Given the description of an element on the screen output the (x, y) to click on. 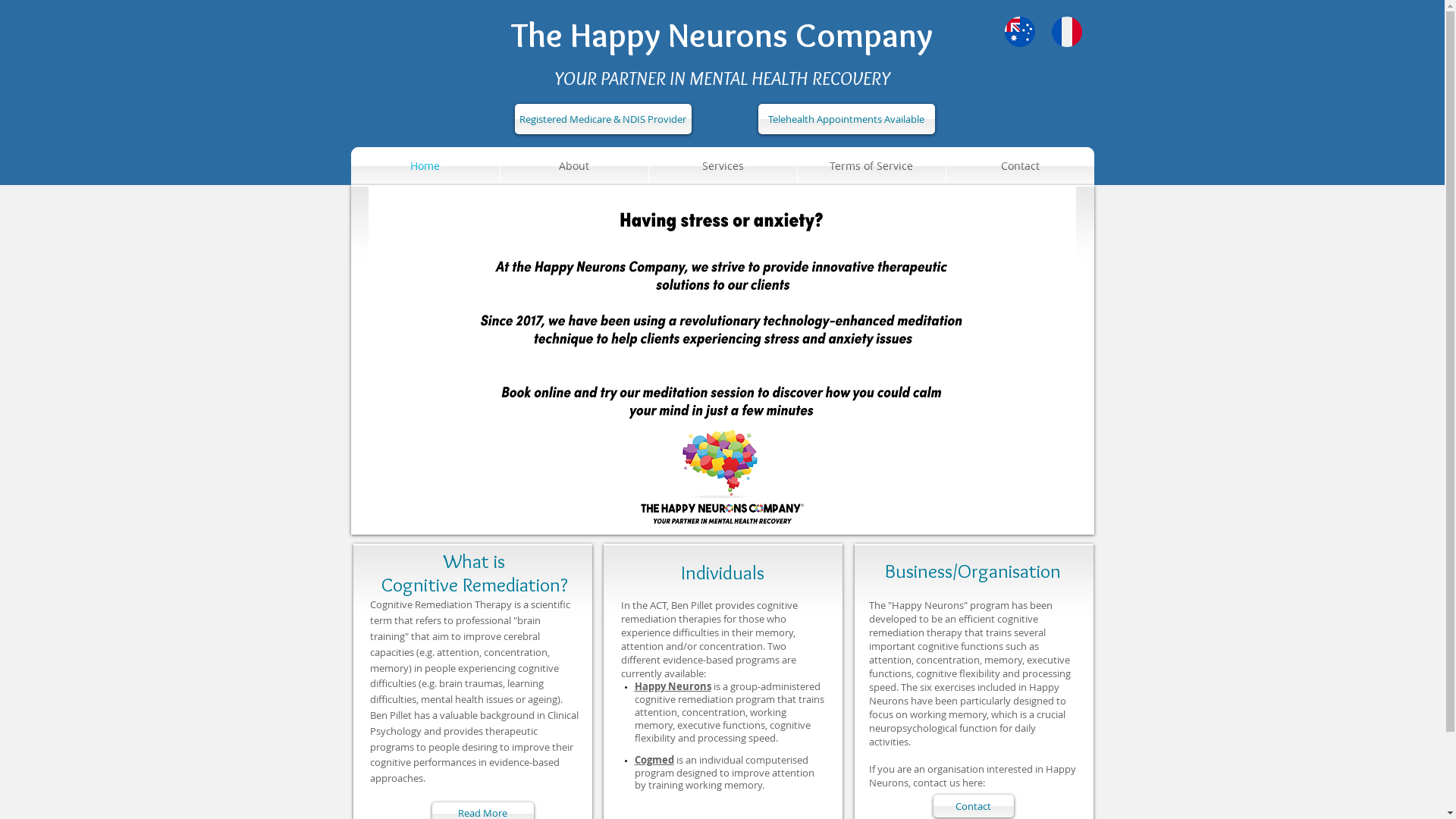
Happy Neurons Element type: text (671, 686)
Home Element type: text (424, 166)
Telehealth Appointments Available Element type: text (846, 118)
Registered Medicare & NDIS Provider Element type: text (602, 118)
Contact Element type: text (972, 805)
is Element type: text (715, 686)
Contact Element type: text (1020, 166)
Cogmed Element type: text (653, 759)
